Given the description of an element on the screen output the (x, y) to click on. 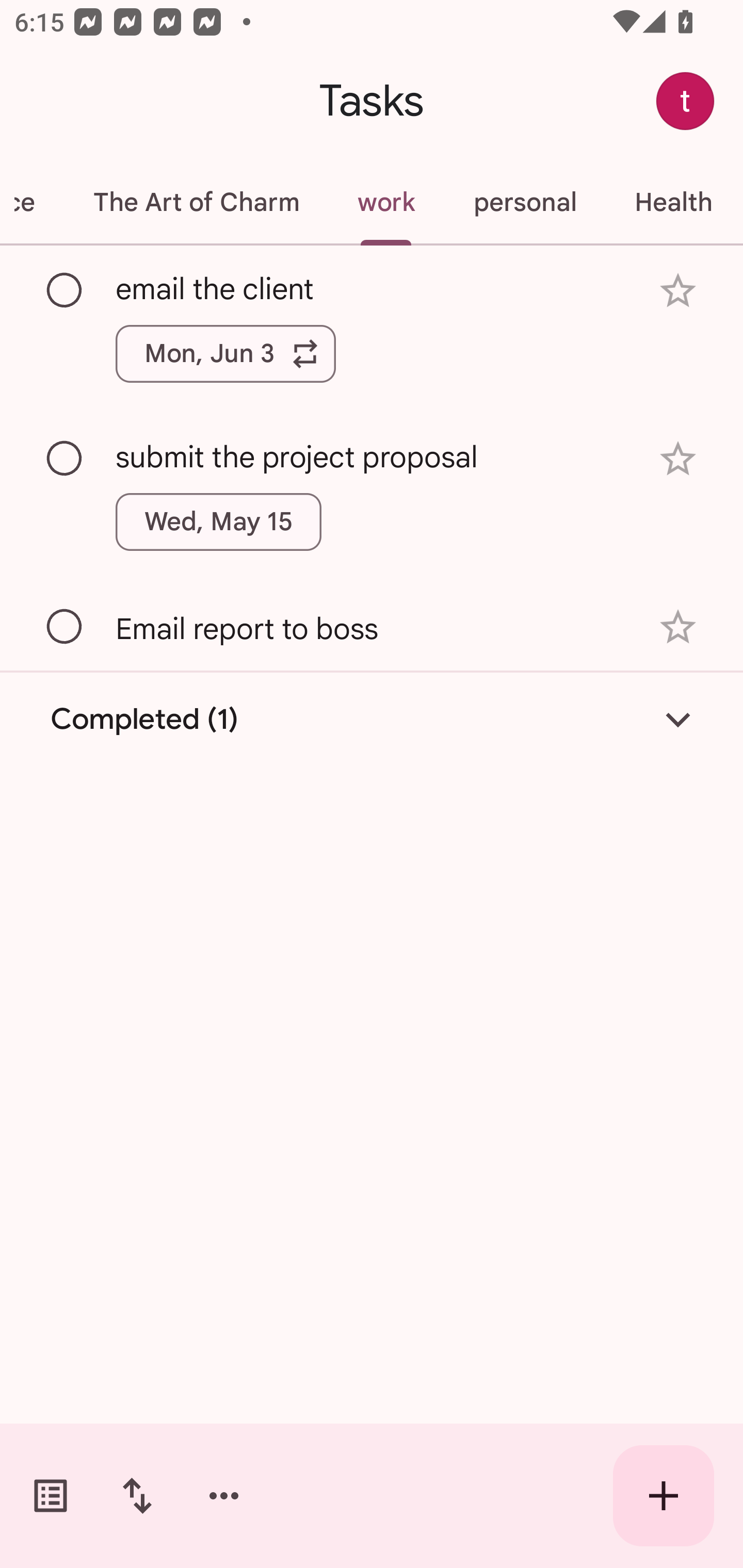
The Art of Charm (195, 202)
personal (524, 202)
Health (673, 202)
Add star (677, 290)
Mark as complete (64, 290)
Mon, Jun 3 (225, 353)
Add star (677, 458)
Mark as complete (64, 459)
Wed, May 15 (218, 522)
Add star (677, 627)
Mark as complete (64, 627)
Completed (1) (371, 719)
Switch task lists (50, 1495)
Create new task (663, 1495)
Change sort order (136, 1495)
More options (223, 1495)
